Given the description of an element on the screen output the (x, y) to click on. 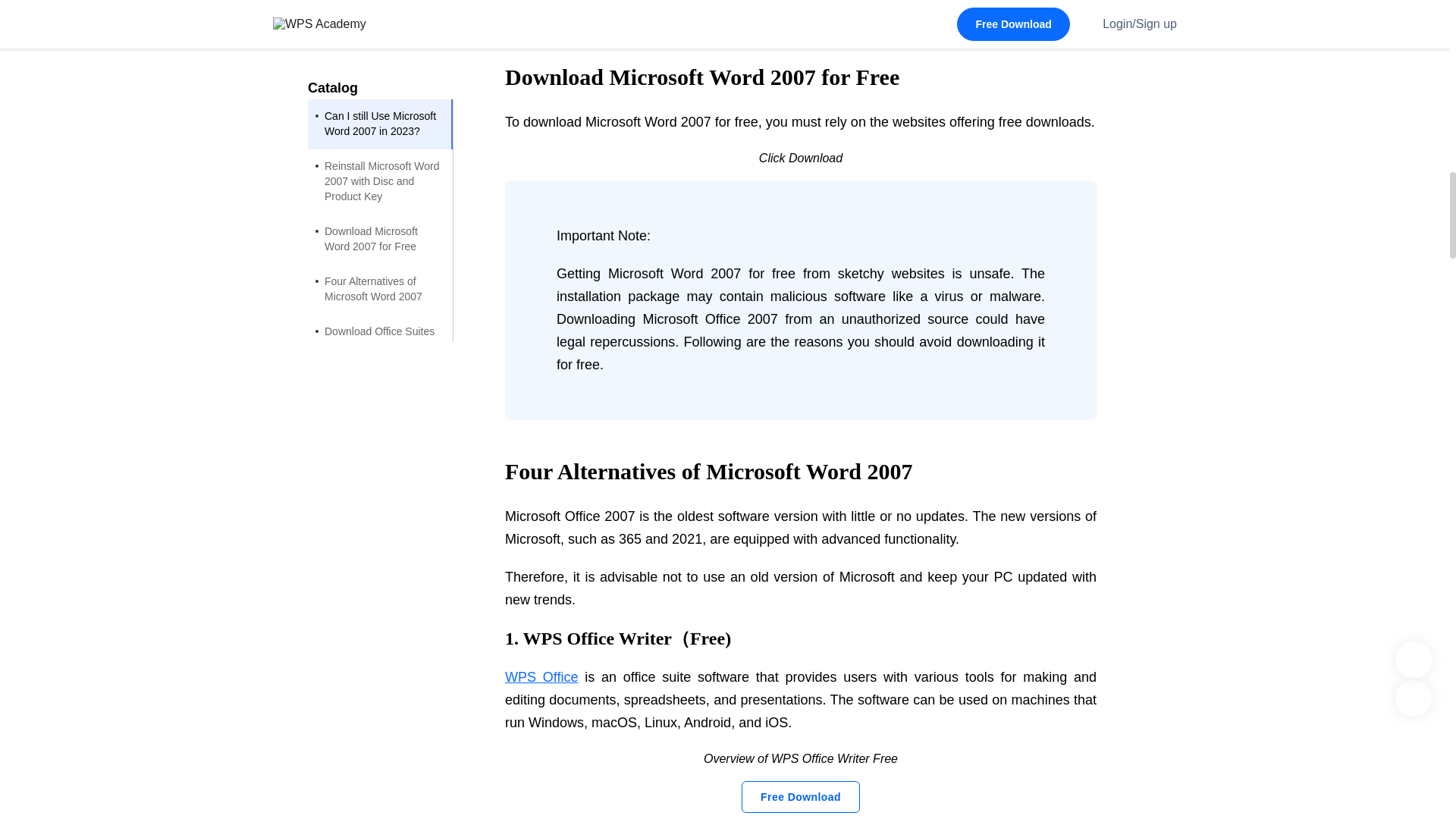
WPS Office (541, 676)
Free Download (800, 797)
